Given the description of an element on the screen output the (x, y) to click on. 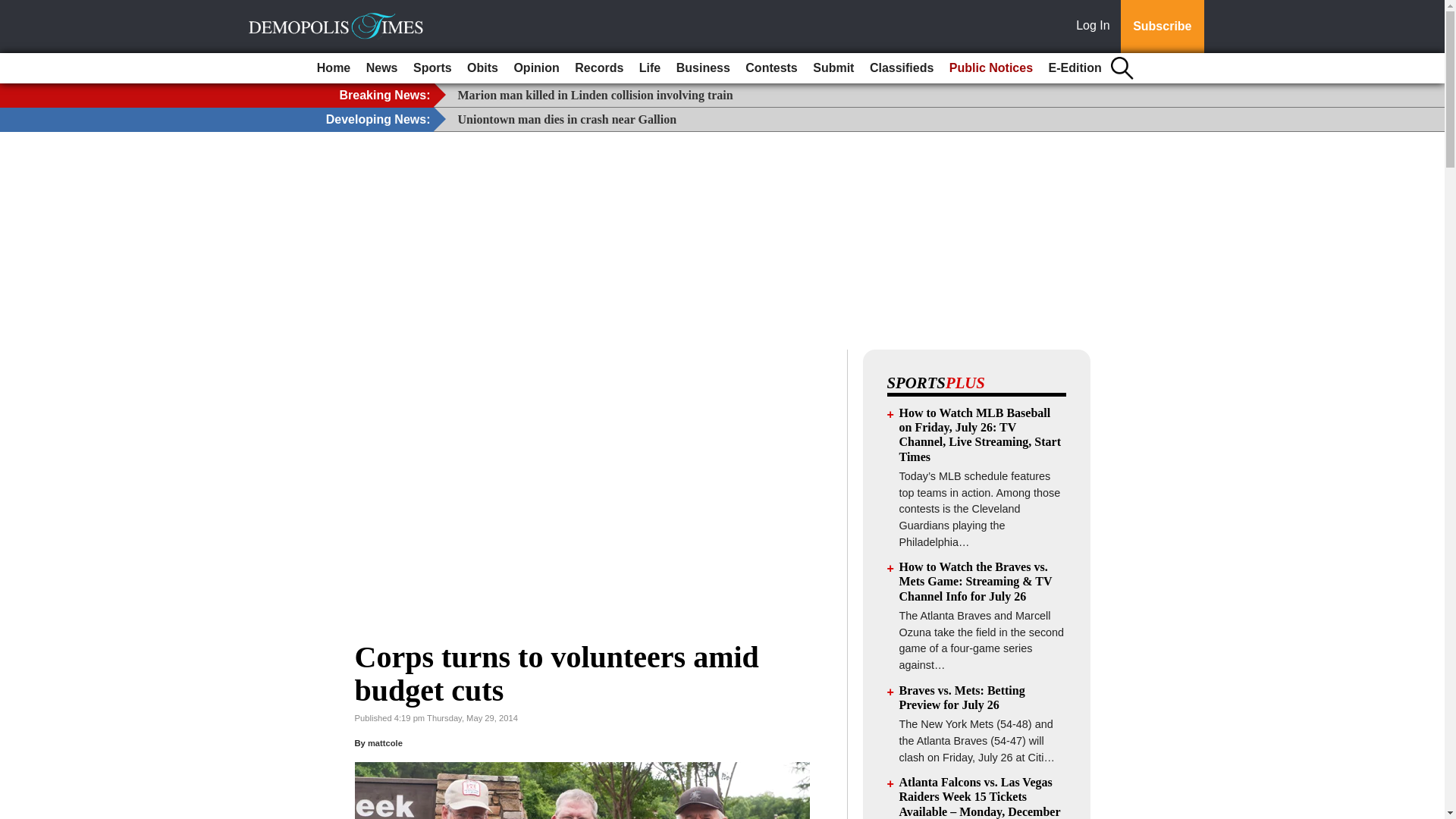
mattcole (385, 742)
Public Notices (991, 68)
Subscribe (1162, 26)
Marion man killed in Linden collision involving train (595, 94)
Uniontown man dies in crash near Gallion (567, 119)
News (381, 68)
Obits (482, 68)
E-Edition (1075, 68)
Home (333, 68)
Submit (833, 68)
Uniontown man dies in crash near Gallion (567, 119)
Contests (771, 68)
Records (598, 68)
Life (649, 68)
Classifieds (901, 68)
